Given the description of an element on the screen output the (x, y) to click on. 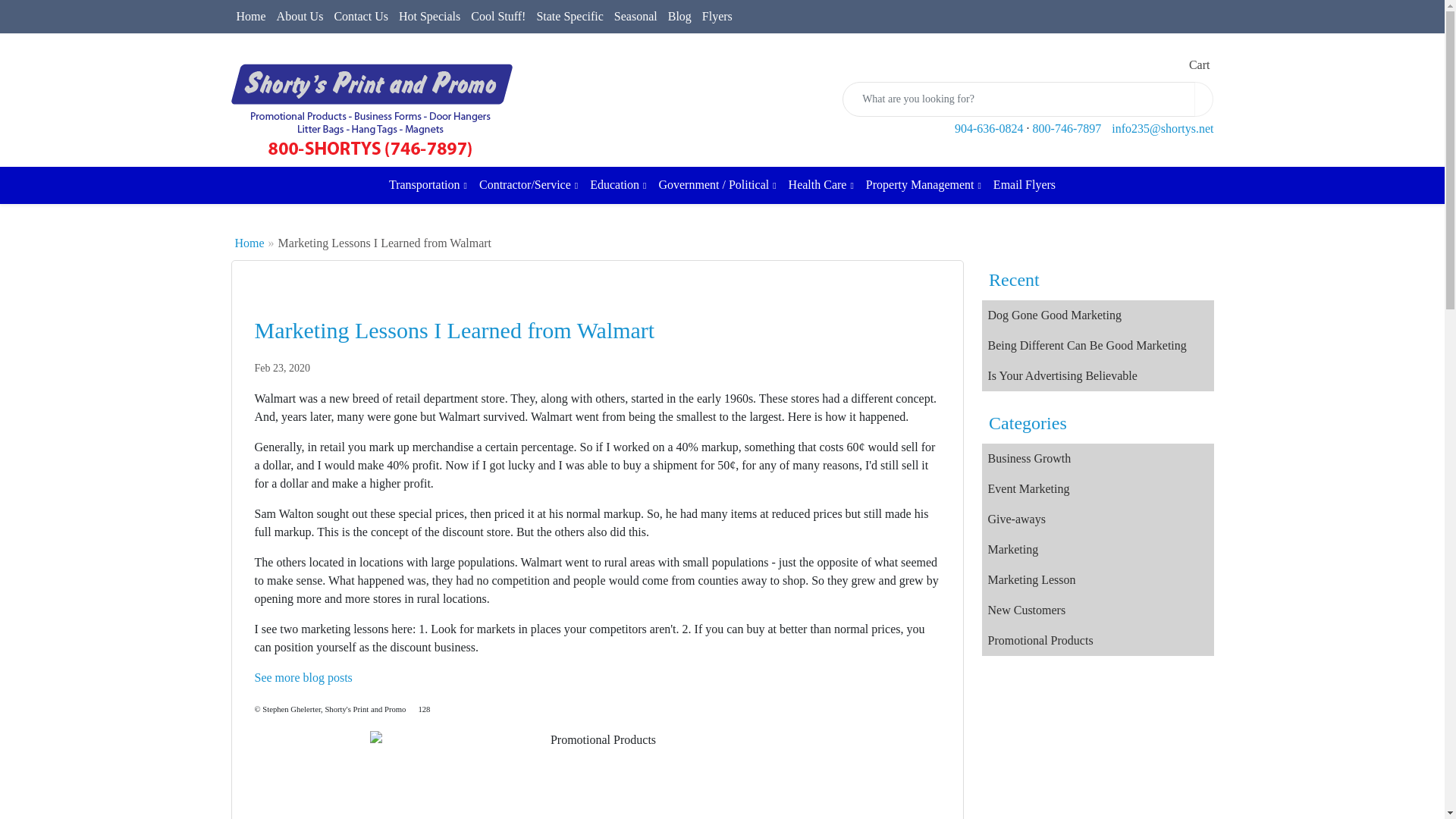
About Us (299, 16)
Blog Posts (303, 676)
Hot Specials (429, 16)
Cool Stuff! (498, 16)
Home (250, 16)
Contact Us (361, 16)
Seasonal (635, 16)
State Specific (569, 16)
